Given the description of an element on the screen output the (x, y) to click on. 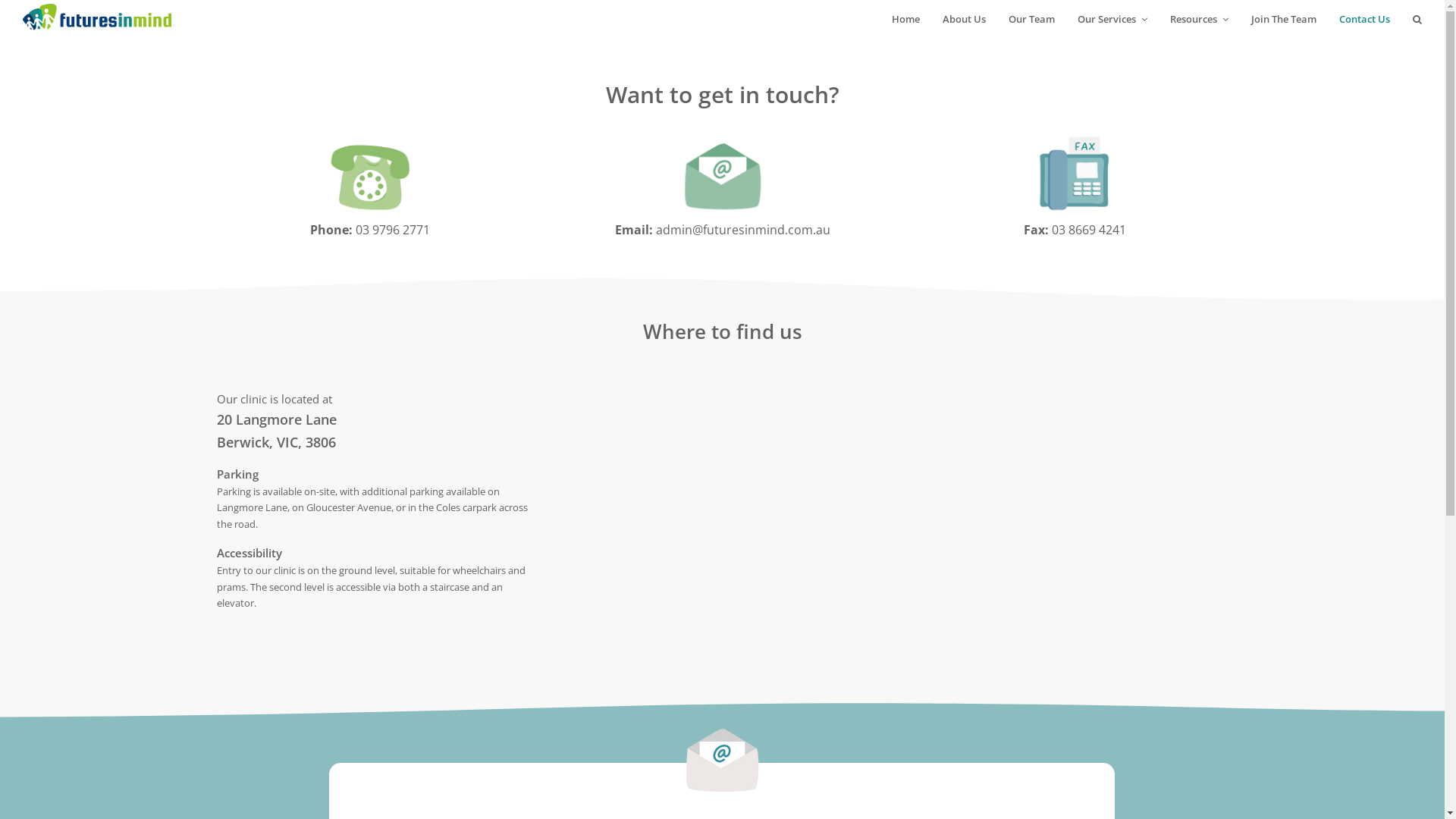
Join The Team Element type: text (1283, 18)
Home Element type: text (905, 18)
Our Team Element type: text (1031, 18)
Our Services Element type: text (1112, 18)
About Us Element type: text (964, 18)
Resources Element type: text (1198, 18)
Contact Us Element type: text (1364, 18)
